Given the description of an element on the screen output the (x, y) to click on. 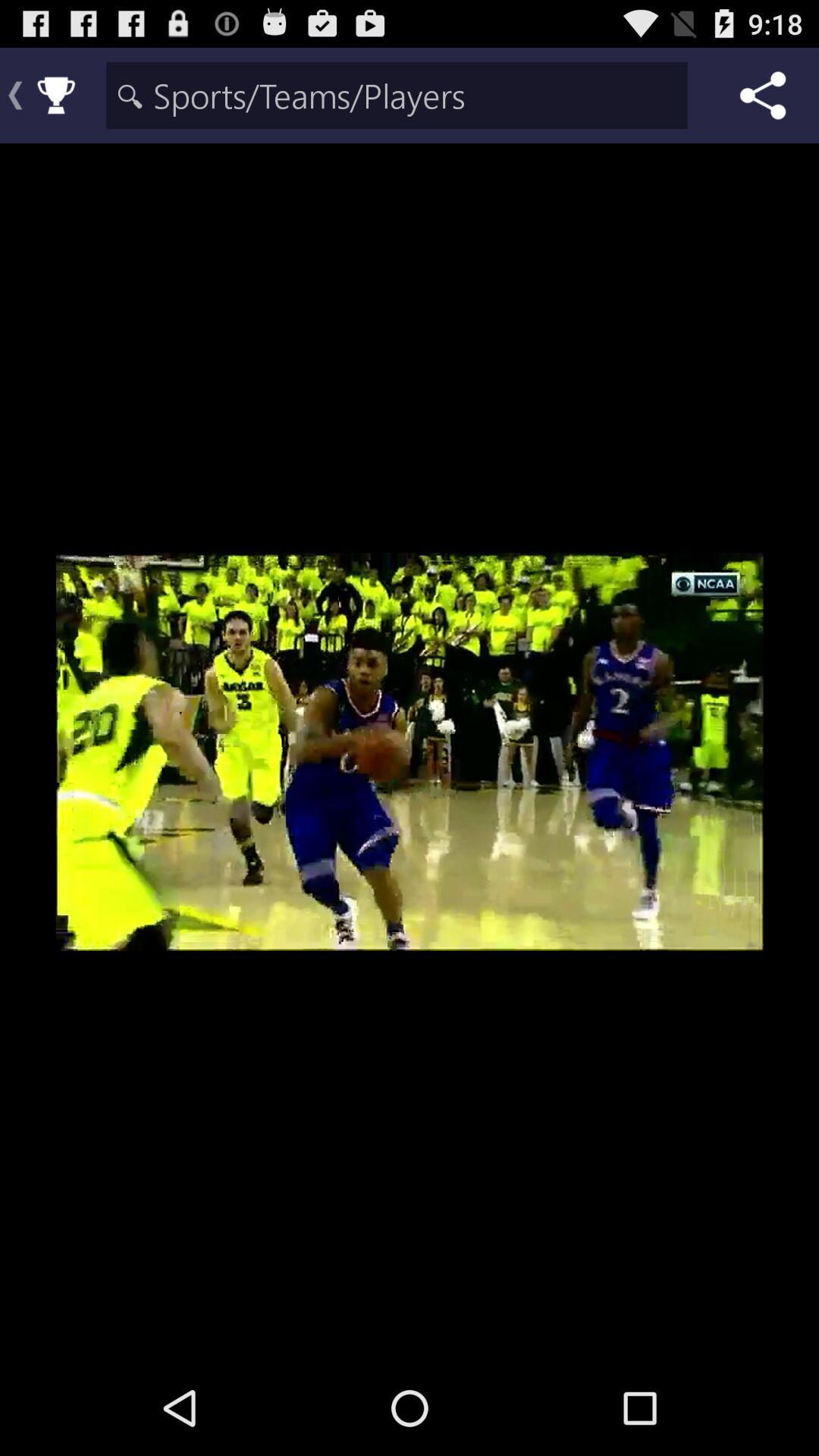
select the search bar (396, 95)
